Given the description of an element on the screen output the (x, y) to click on. 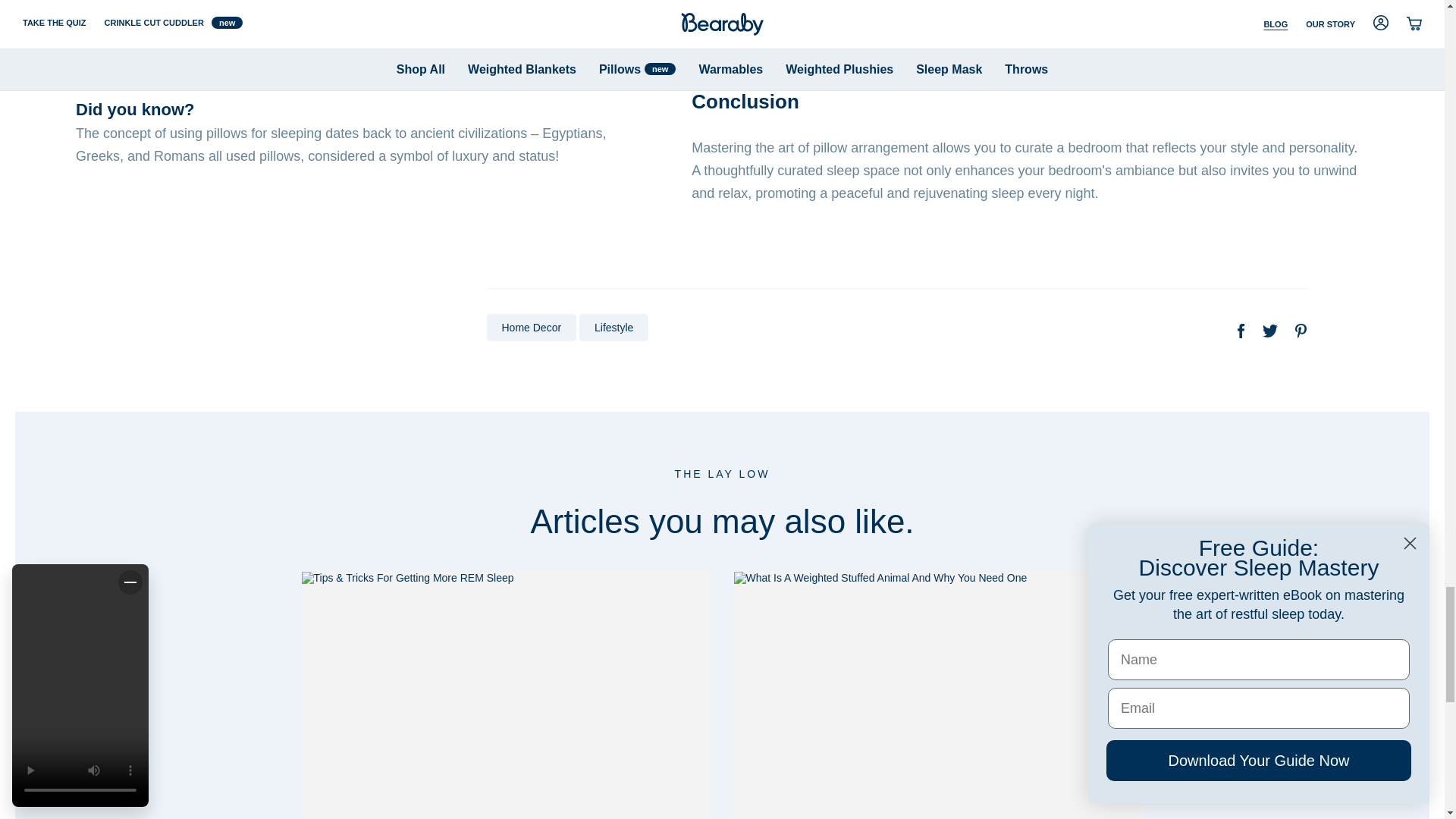
What Is A Weighted Stuffed Animal And Why You Need One (937, 695)
